Given the description of an element on the screen output the (x, y) to click on. 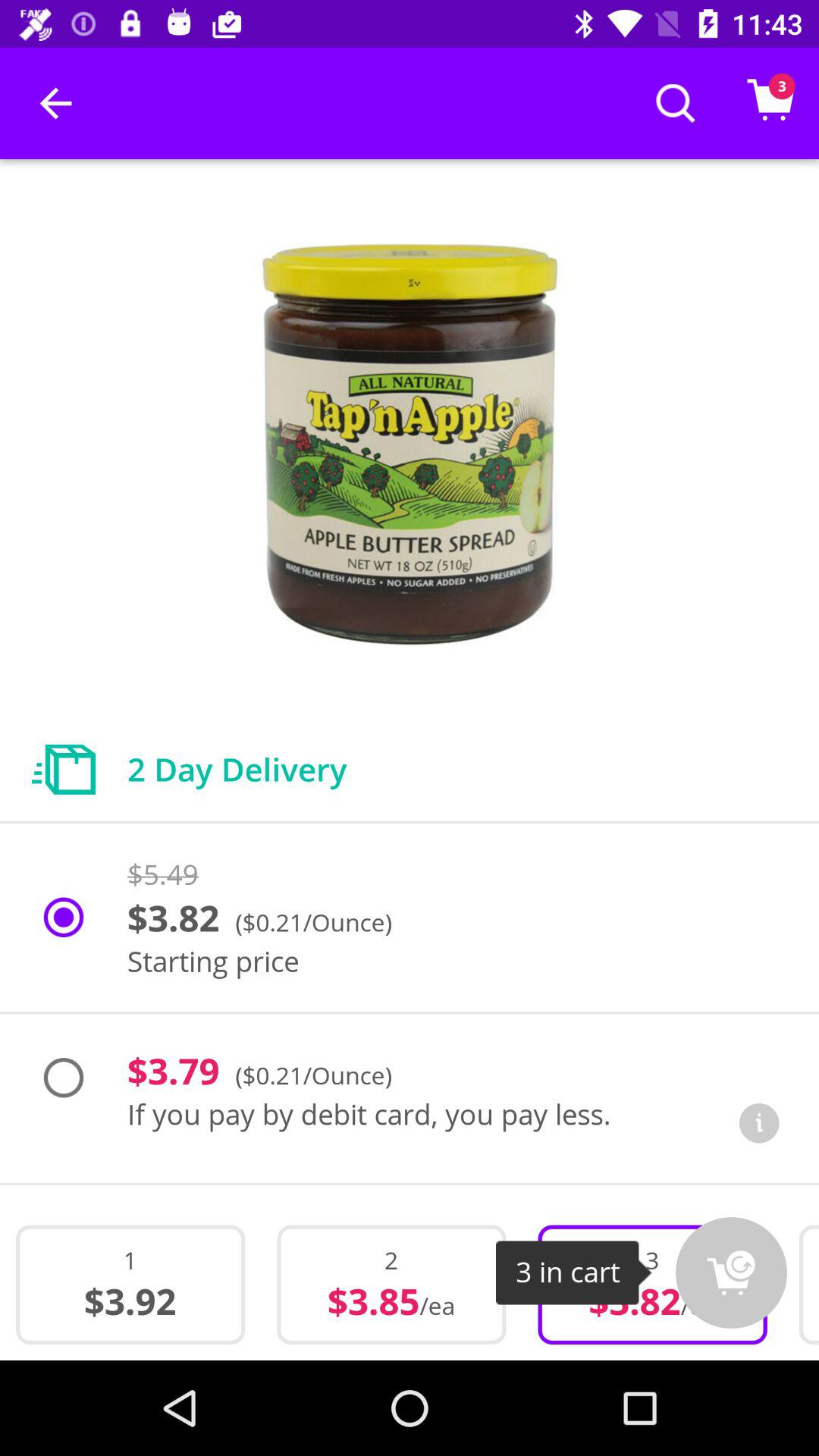
launch the icon next to the 3 item (731, 1272)
